Given the description of an element on the screen output the (x, y) to click on. 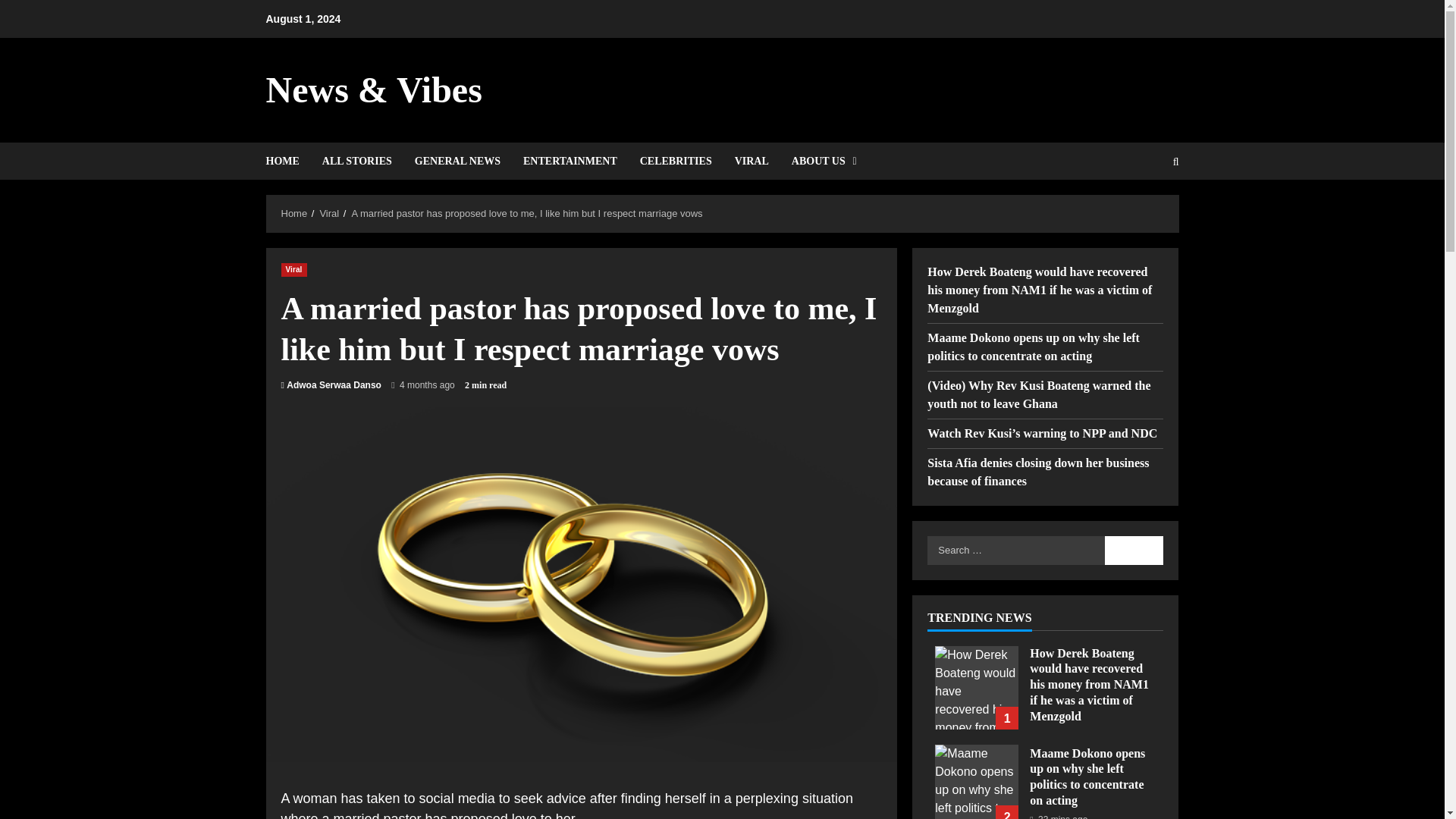
Search (1134, 549)
Man commits suicide after struggling with loneliness (975, 687)
Viral (328, 213)
GENERAL NEWS (457, 160)
ALL STORIES (357, 160)
Adwoa Serwaa Danso (333, 385)
ENTERTAINMENT (570, 160)
Search (1139, 213)
HOME (287, 160)
